Given the description of an element on the screen output the (x, y) to click on. 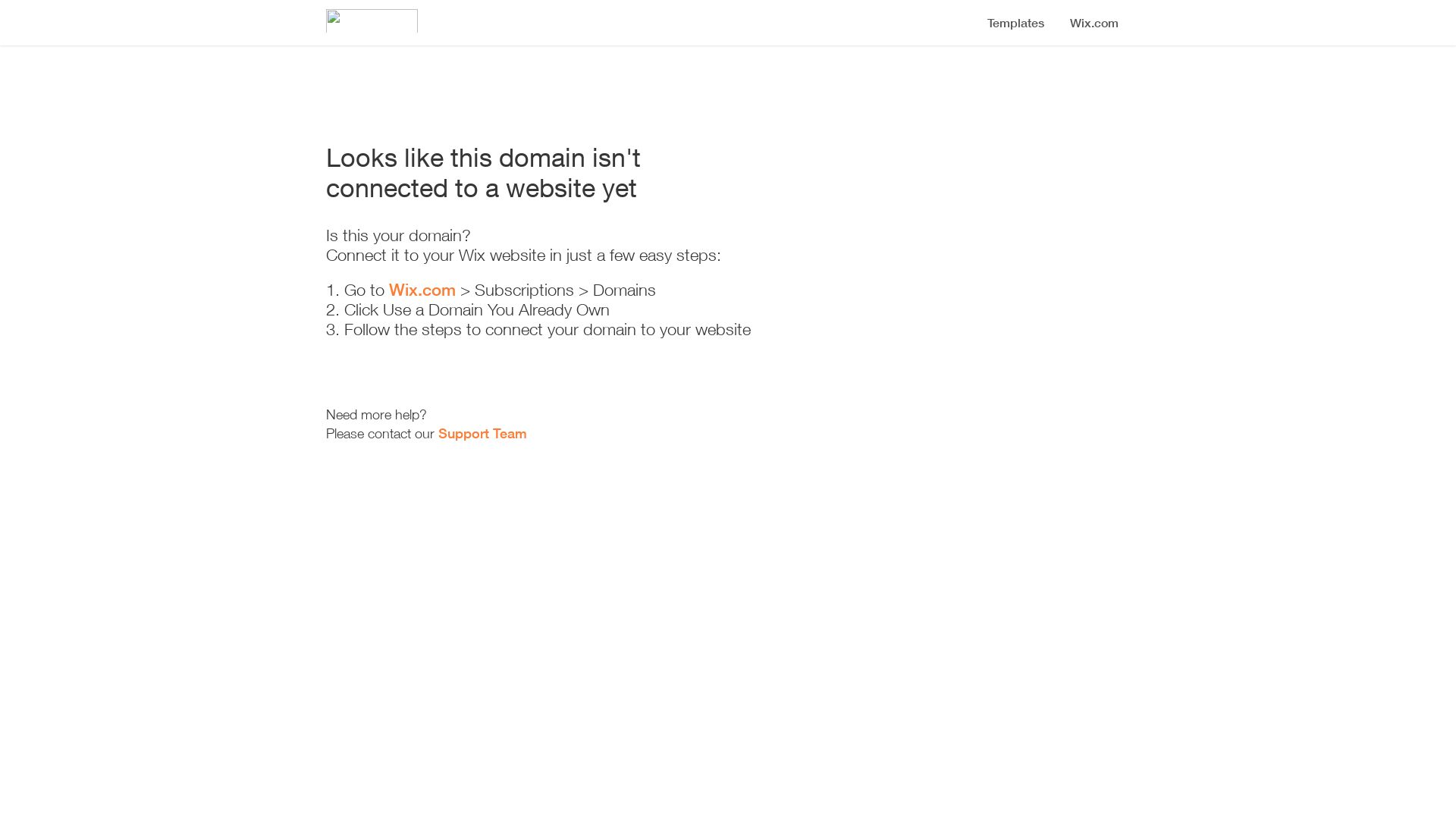
Wix.com Element type: text (422, 289)
Support Team Element type: text (482, 432)
